Given the description of an element on the screen output the (x, y) to click on. 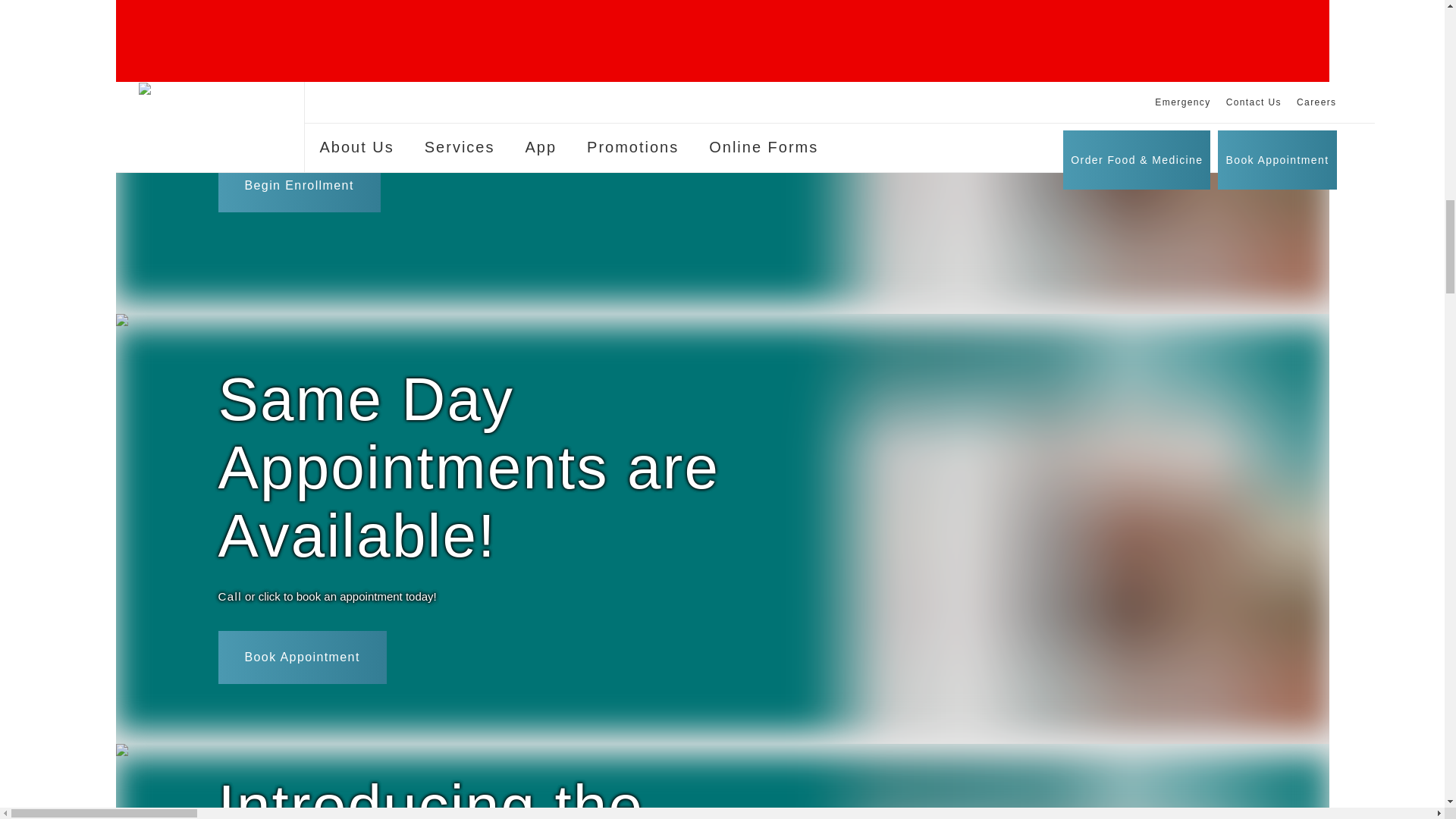
Call (229, 625)
Book Appointment (302, 686)
Begin Enrollment (299, 214)
